Given the description of an element on the screen output the (x, y) to click on. 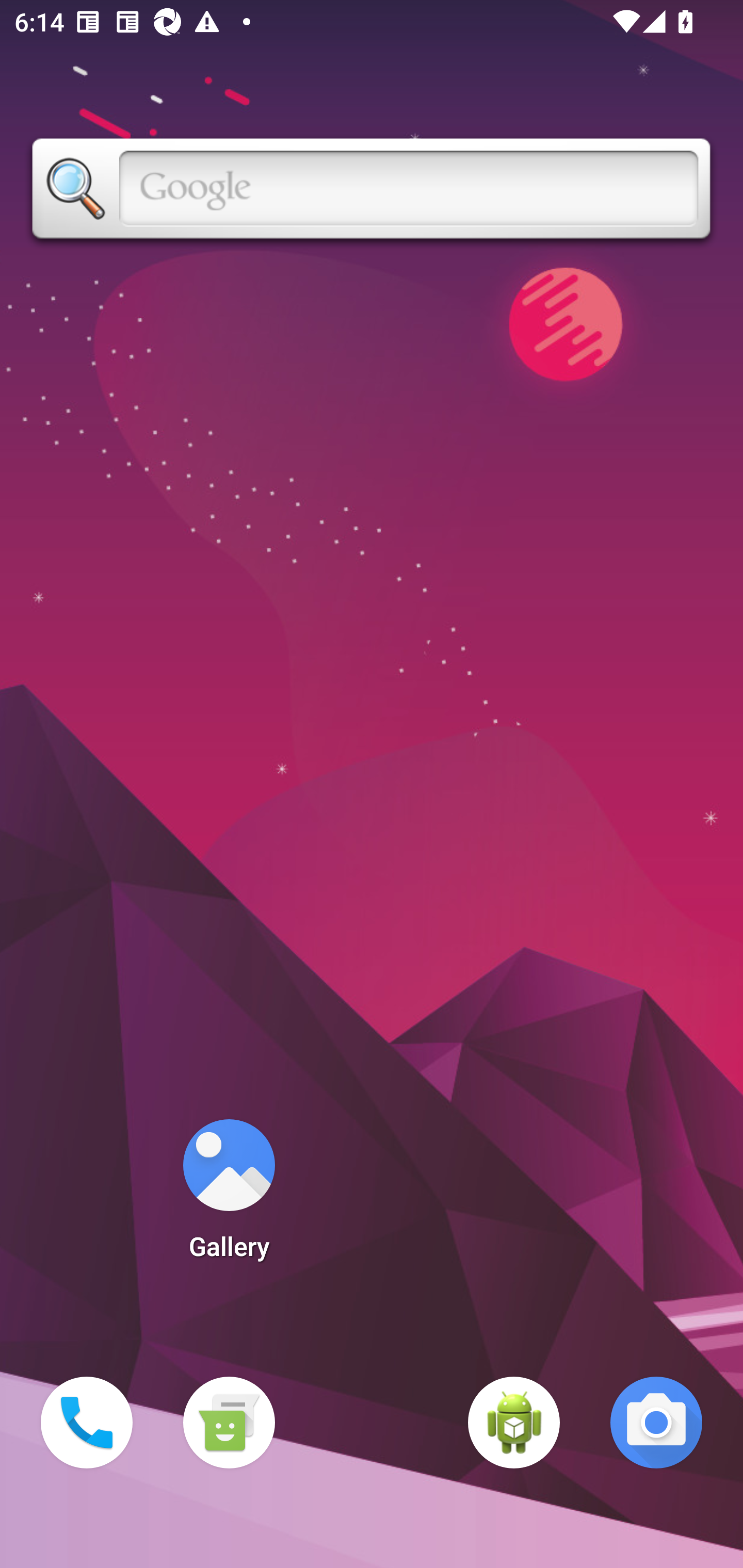
Gallery (228, 1195)
Phone (86, 1422)
Messaging (228, 1422)
WebView Browser Tester (513, 1422)
Camera (656, 1422)
